Given the description of an element on the screen output the (x, y) to click on. 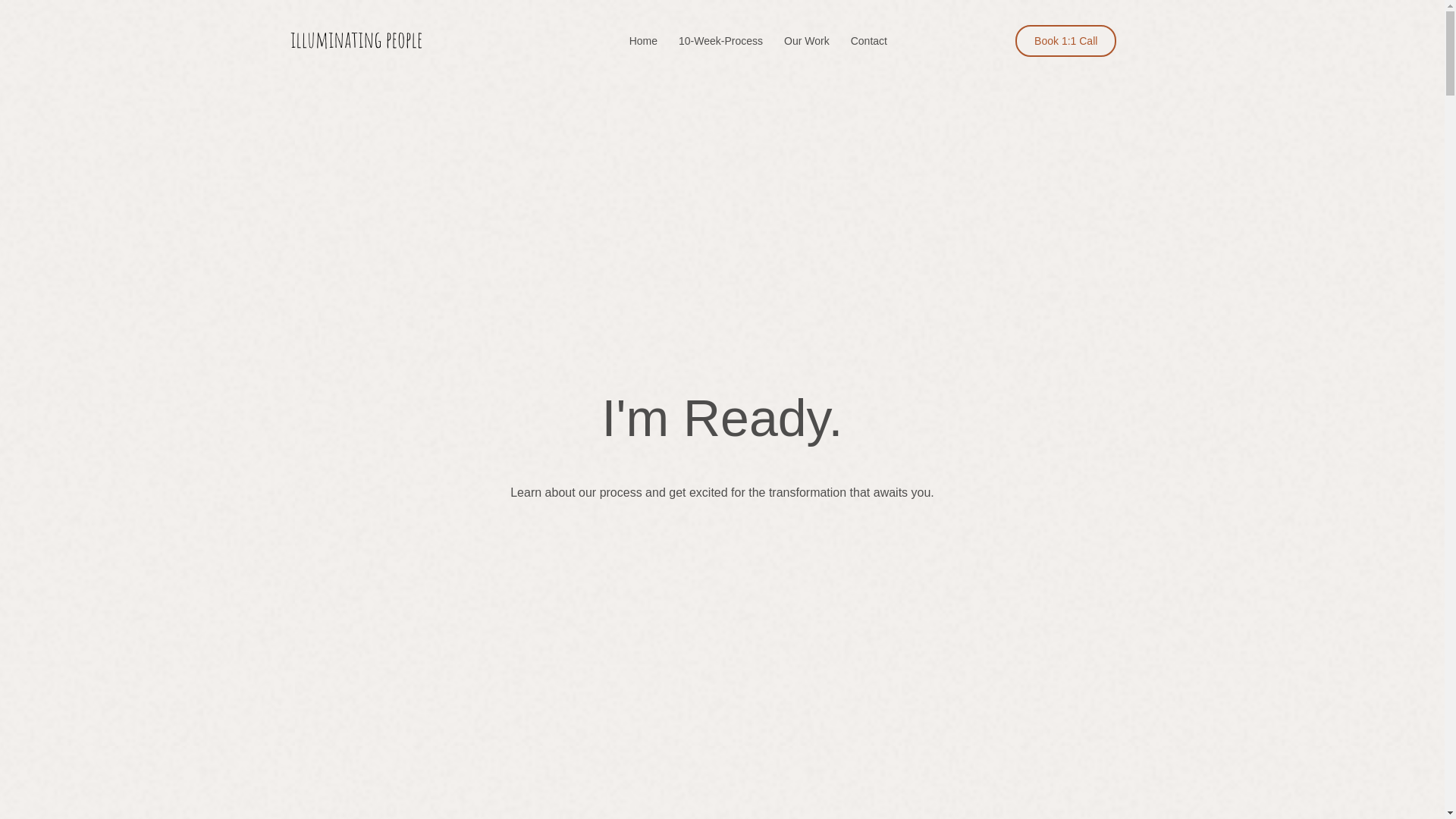
Contact (868, 40)
illuminating people (355, 40)
Our Work (806, 40)
10-Week-Process (720, 40)
Book 1:1 Call (1065, 40)
